Given the description of an element on the screen output the (x, y) to click on. 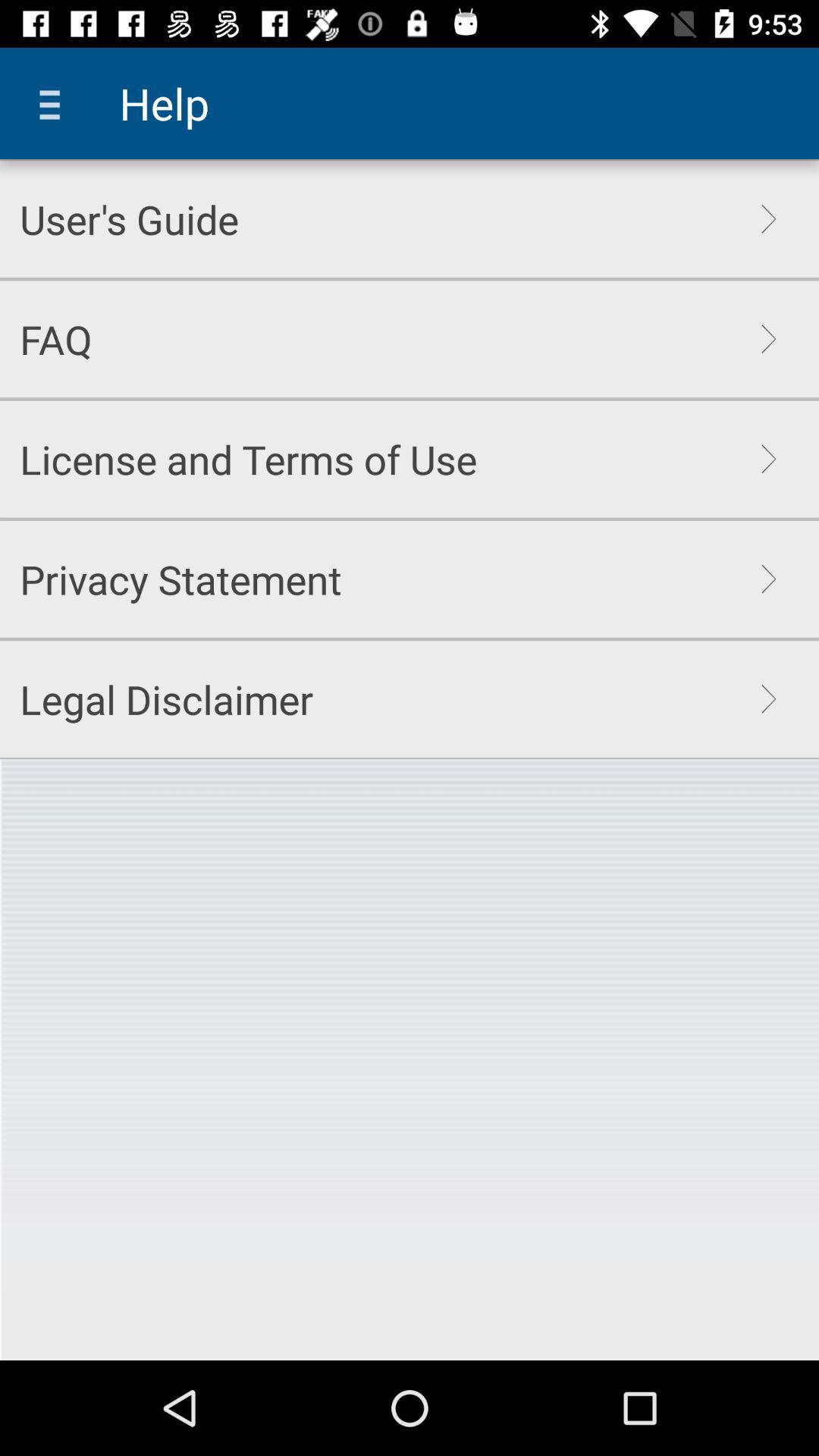
open the item below the privacy statement item (166, 698)
